Given the description of an element on the screen output the (x, y) to click on. 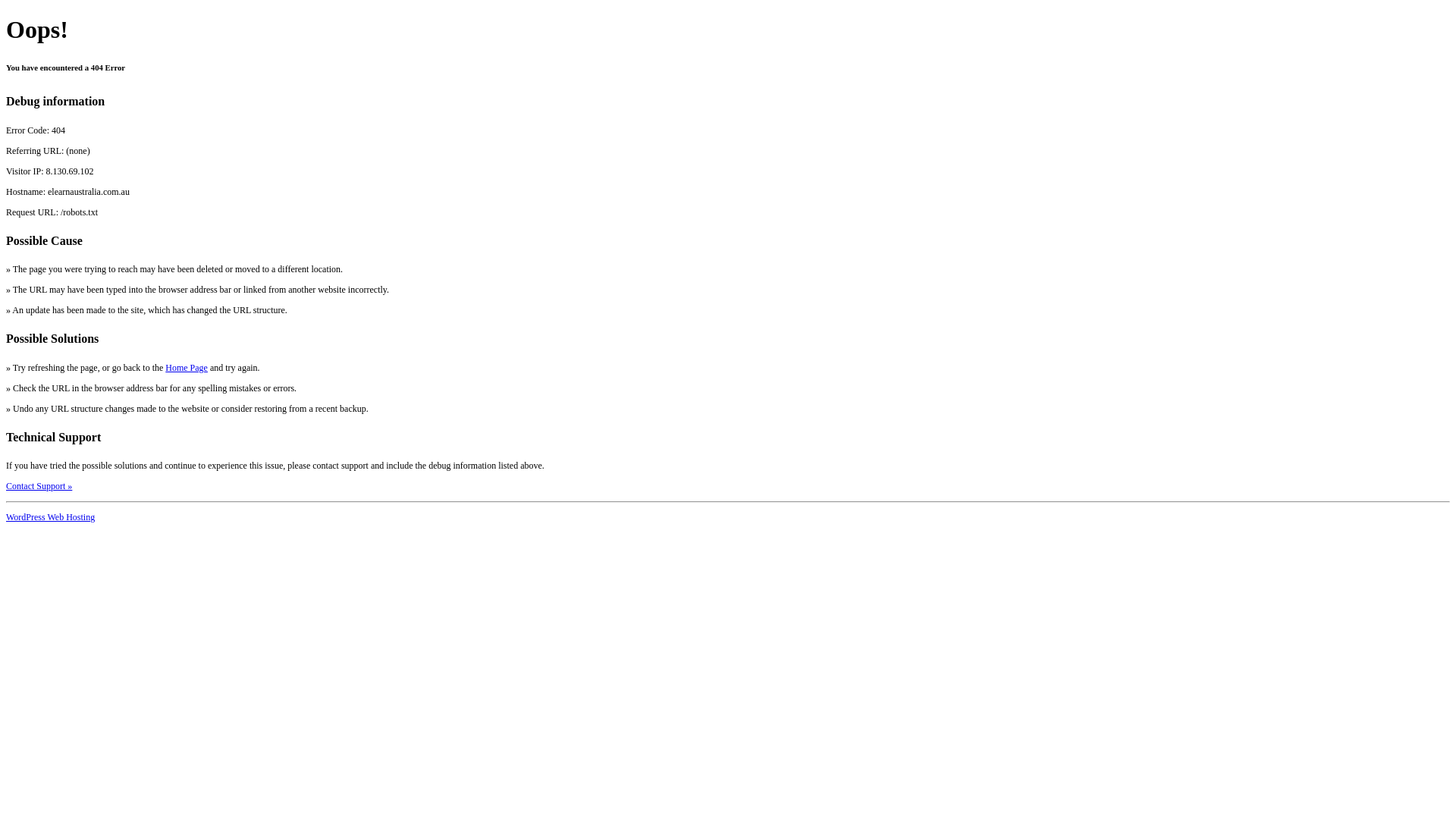
WordPress Web Hosting Element type: text (50, 516)
Home Page Element type: text (186, 367)
